Given the description of an element on the screen output the (x, y) to click on. 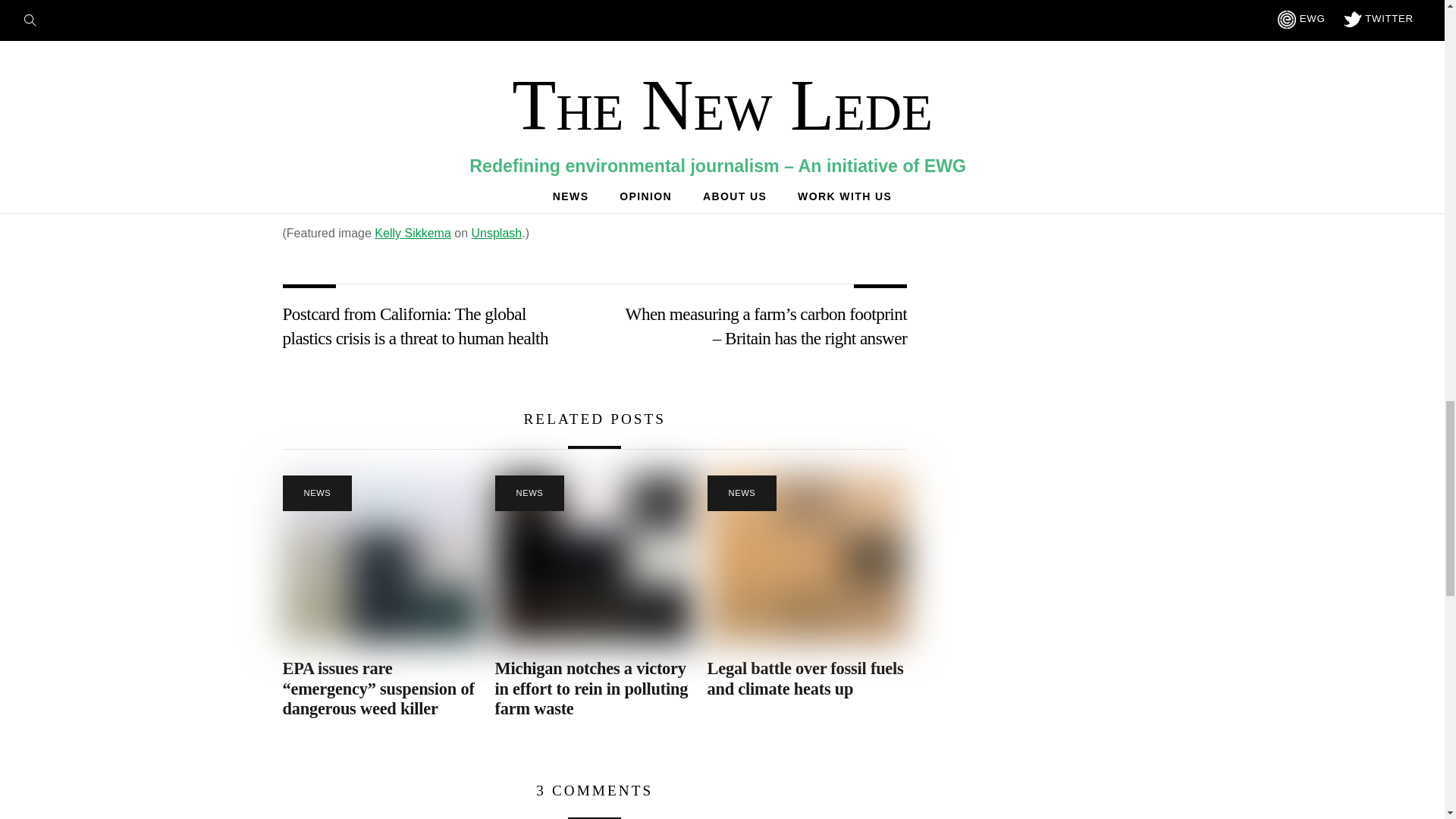
reviewed the move (527, 177)
NEWS (529, 493)
study (676, 101)
tim-mossholder-n8VoXpmn6Nw-unsplash (381, 558)
Legal battle over fossil fuels and climate heats up (805, 678)
NEWS (317, 493)
Kelly Sikkema (411, 232)
study (793, 81)
NEWS (742, 493)
CAFOs-5. (595, 558)
Unsplash (496, 232)
harm various organs and systems in the human body (539, 25)
